Given the description of an element on the screen output the (x, y) to click on. 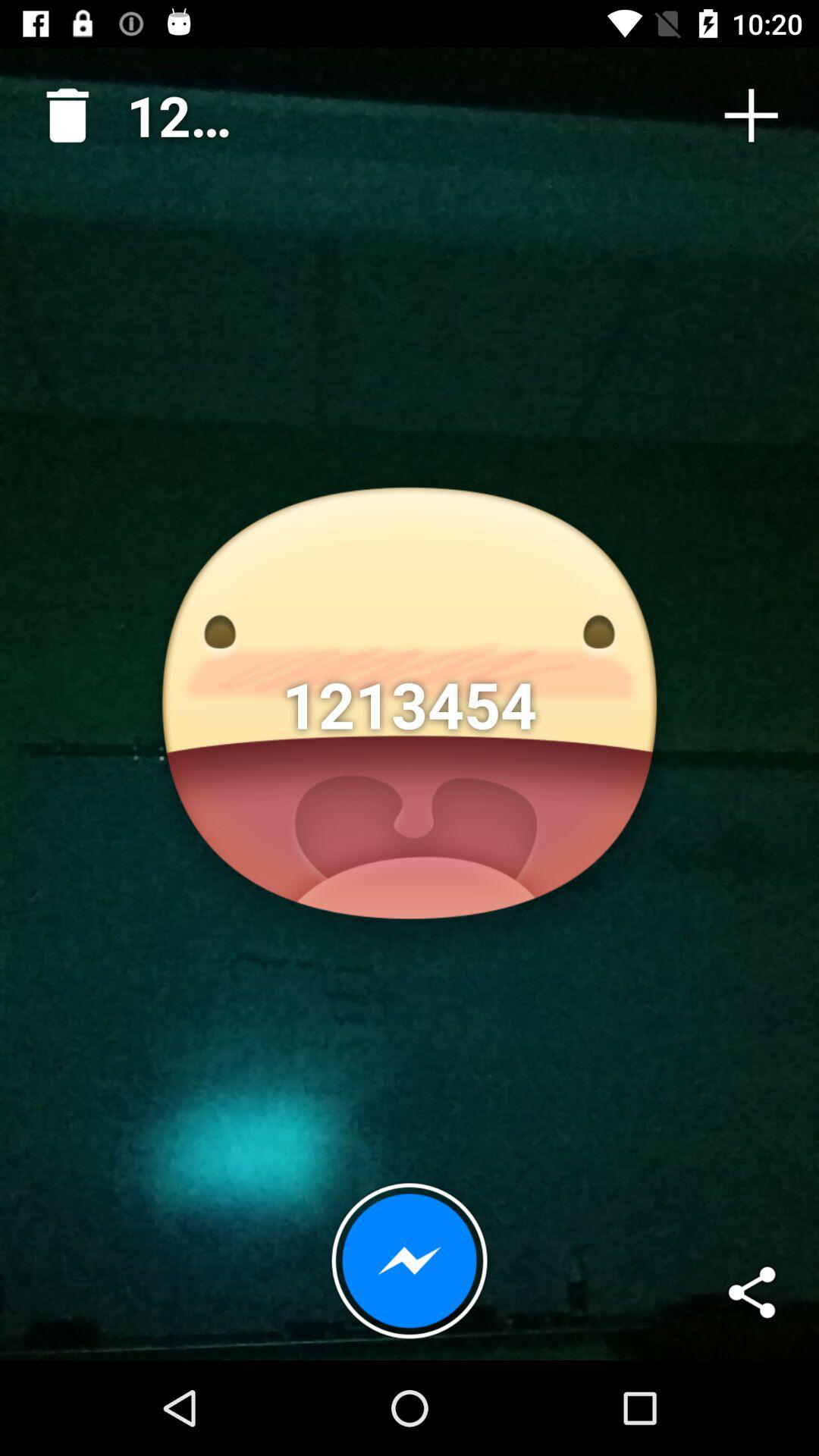
turn off the item to the right of 1213454 icon (751, 115)
